Given the description of an element on the screen output the (x, y) to click on. 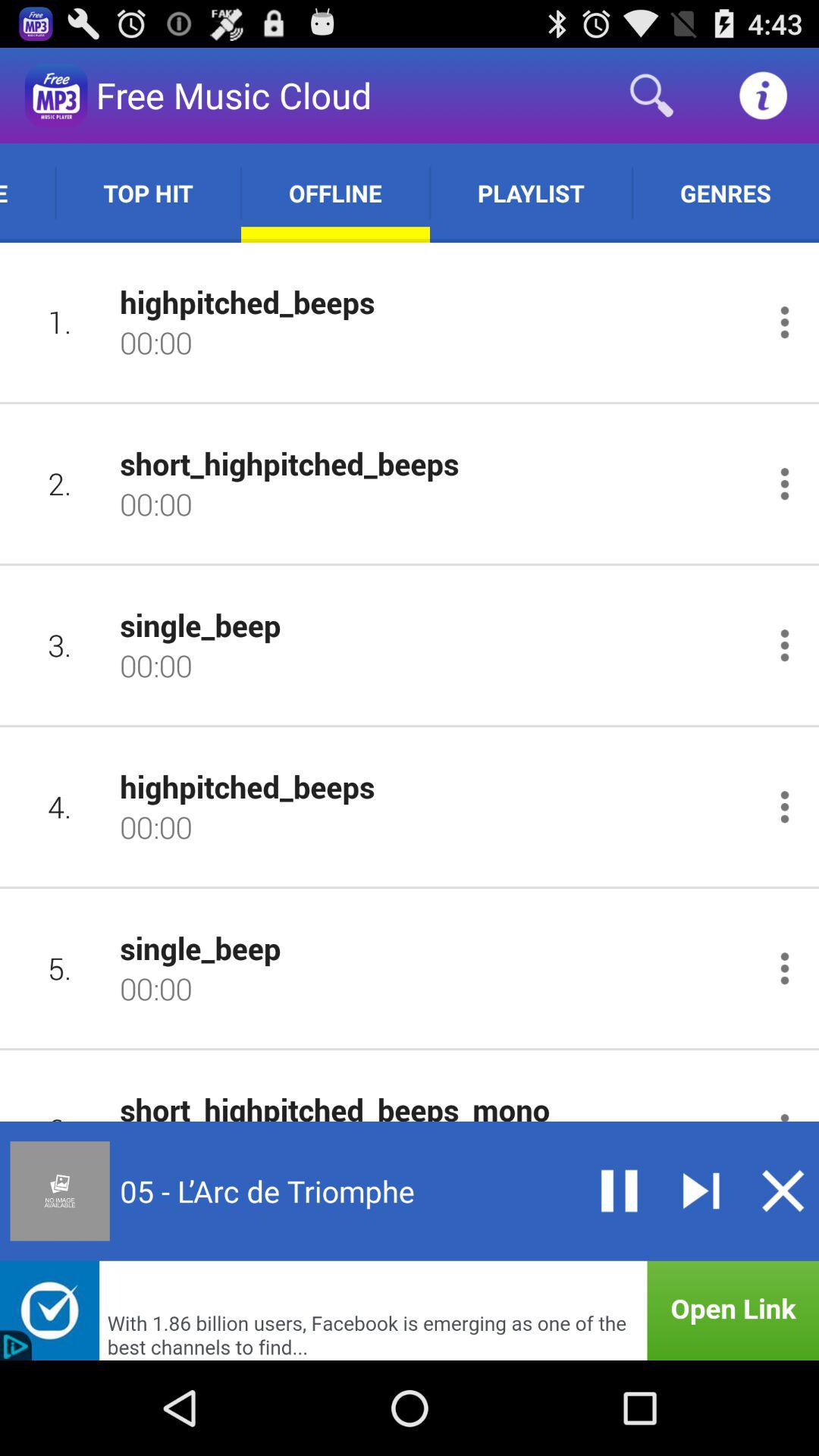
removes blue boxed area so you can see the expanded menu (783, 1190)
